Given the description of an element on the screen output the (x, y) to click on. 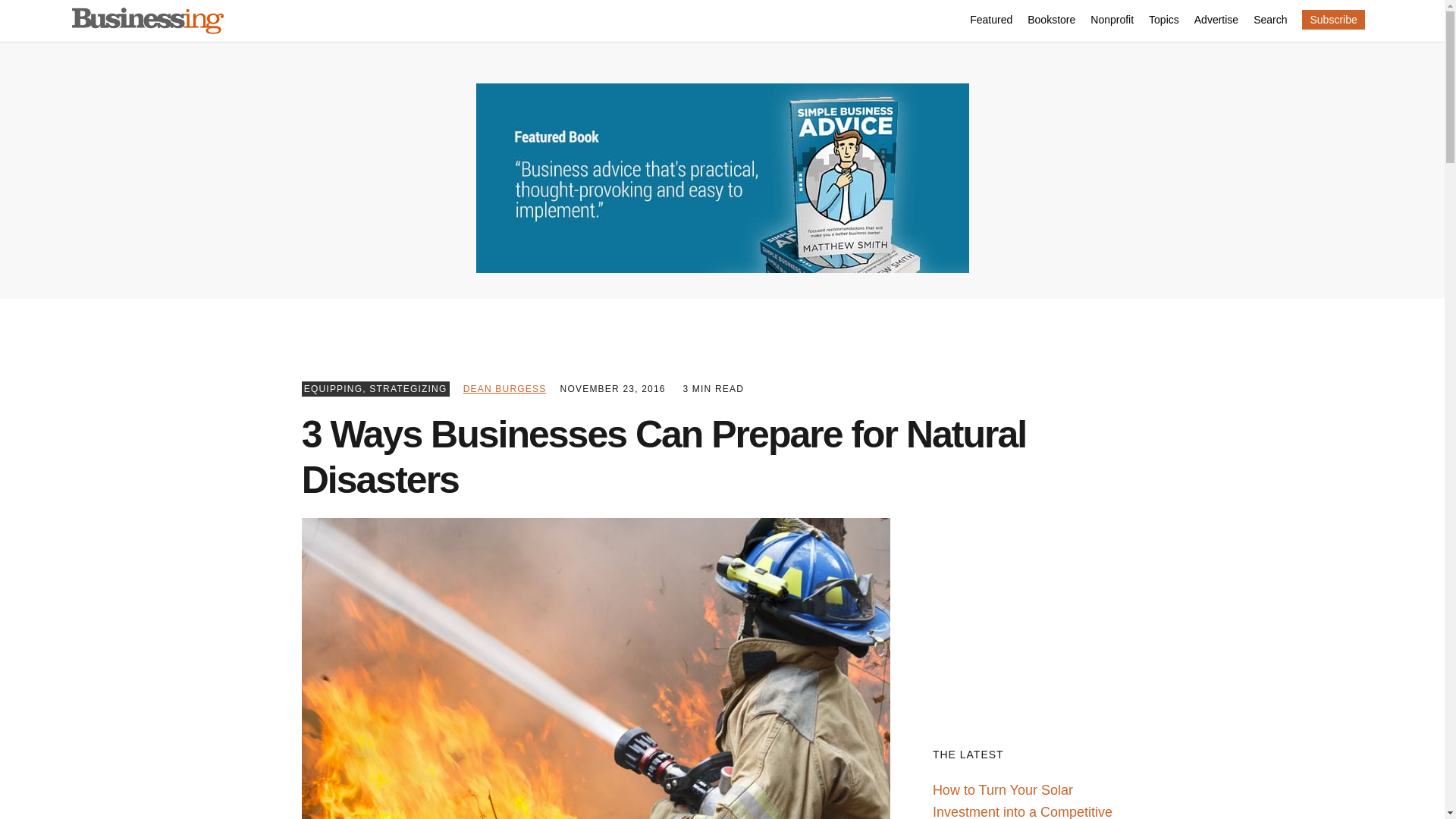
EQUIPPING (333, 388)
DEAN BURGESS (505, 388)
Topics (1163, 20)
Nonprofit (1112, 20)
Businessing Magazine (147, 20)
Search (1270, 20)
Subscribe (1332, 19)
Search (1270, 20)
Featured (990, 20)
Advertise (1216, 20)
Bookstore (1051, 20)
STRATEGIZING (407, 388)
